Given the description of an element on the screen output the (x, y) to click on. 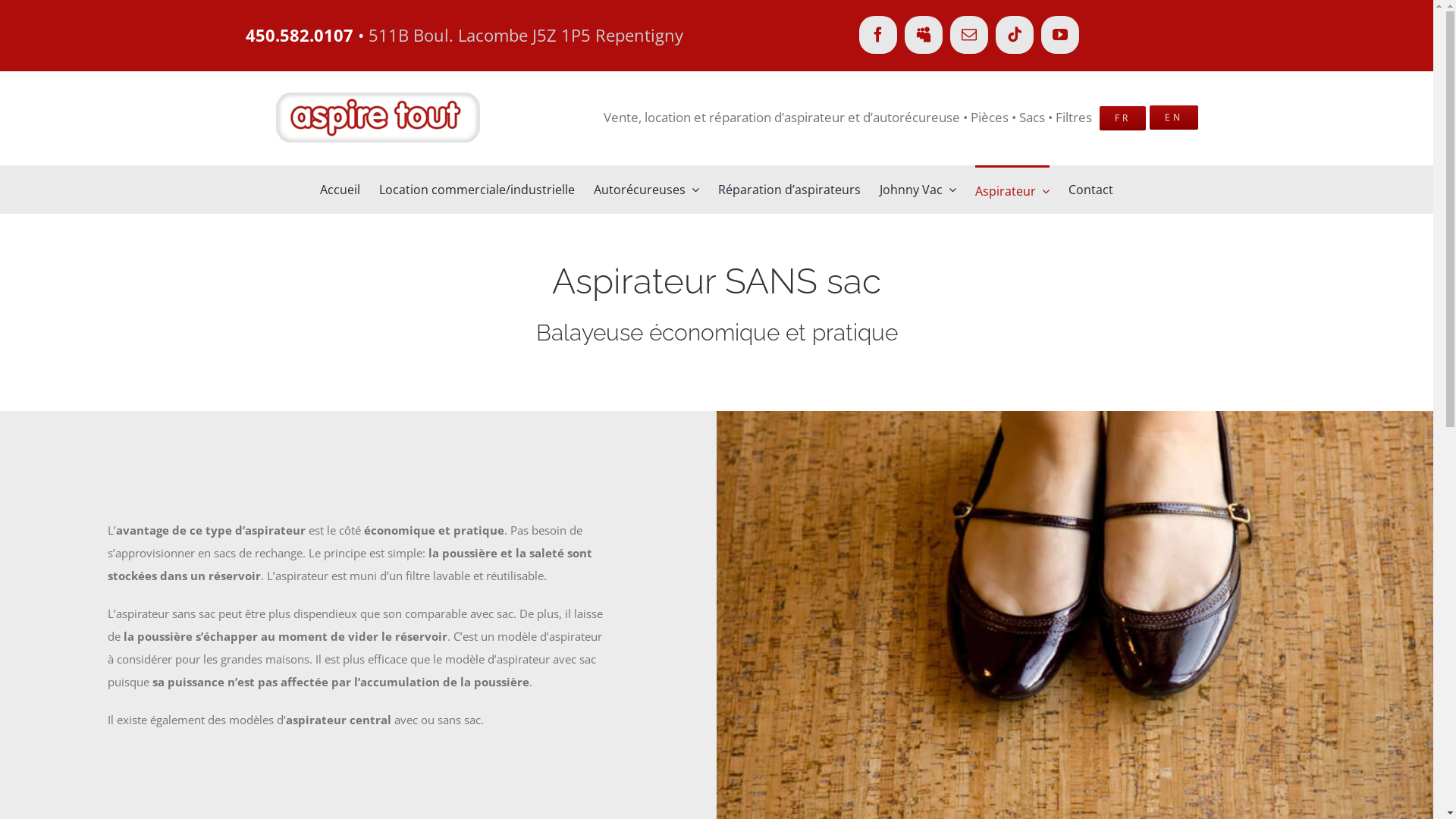
511B Boul. Lacombe J5Z 1P5 Repentigny Element type: text (525, 34)
FR Element type: text (1122, 118)
Contact Element type: text (1090, 189)
450.582.0107 Element type: text (299, 34)
Johnny Vac Element type: text (917, 189)
Aspirateur Element type: text (1012, 189)
EN Element type: text (1173, 117)
Location commerciale/industrielle Element type: text (476, 189)
Accueil Element type: text (340, 189)
